Given the description of an element on the screen output the (x, y) to click on. 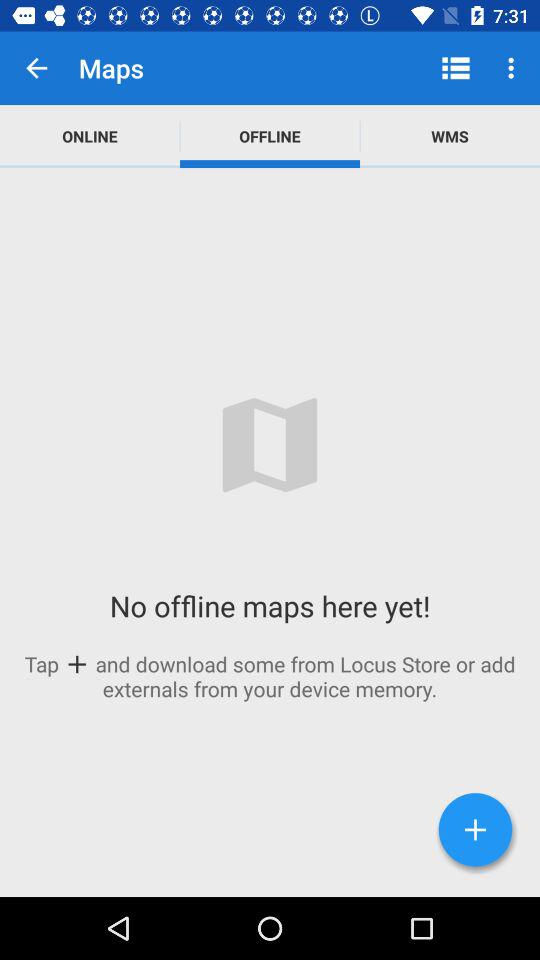
open item next to maps app (36, 68)
